Given the description of an element on the screen output the (x, y) to click on. 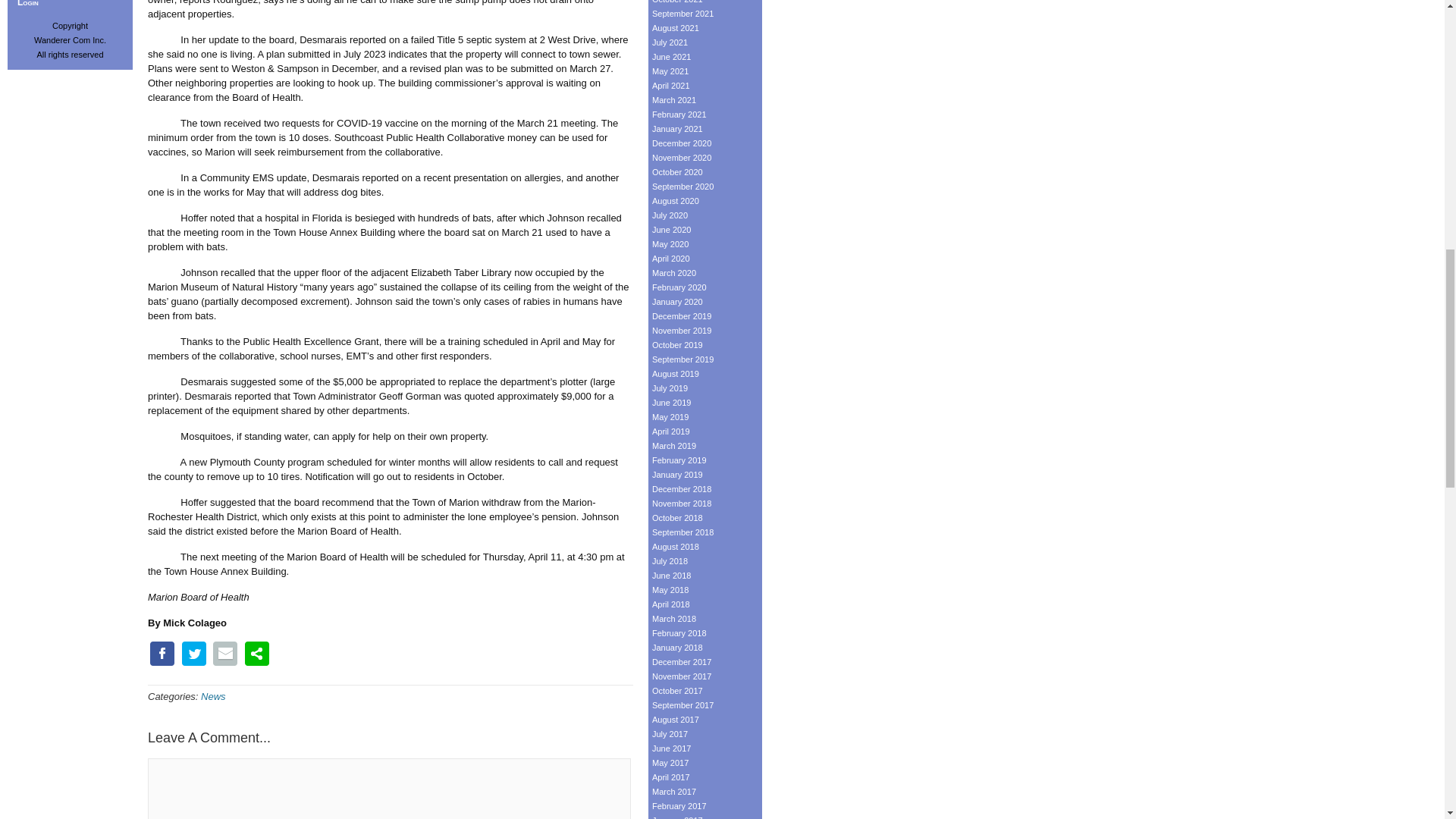
Login (69, 5)
News (212, 696)
